Given the description of an element on the screen output the (x, y) to click on. 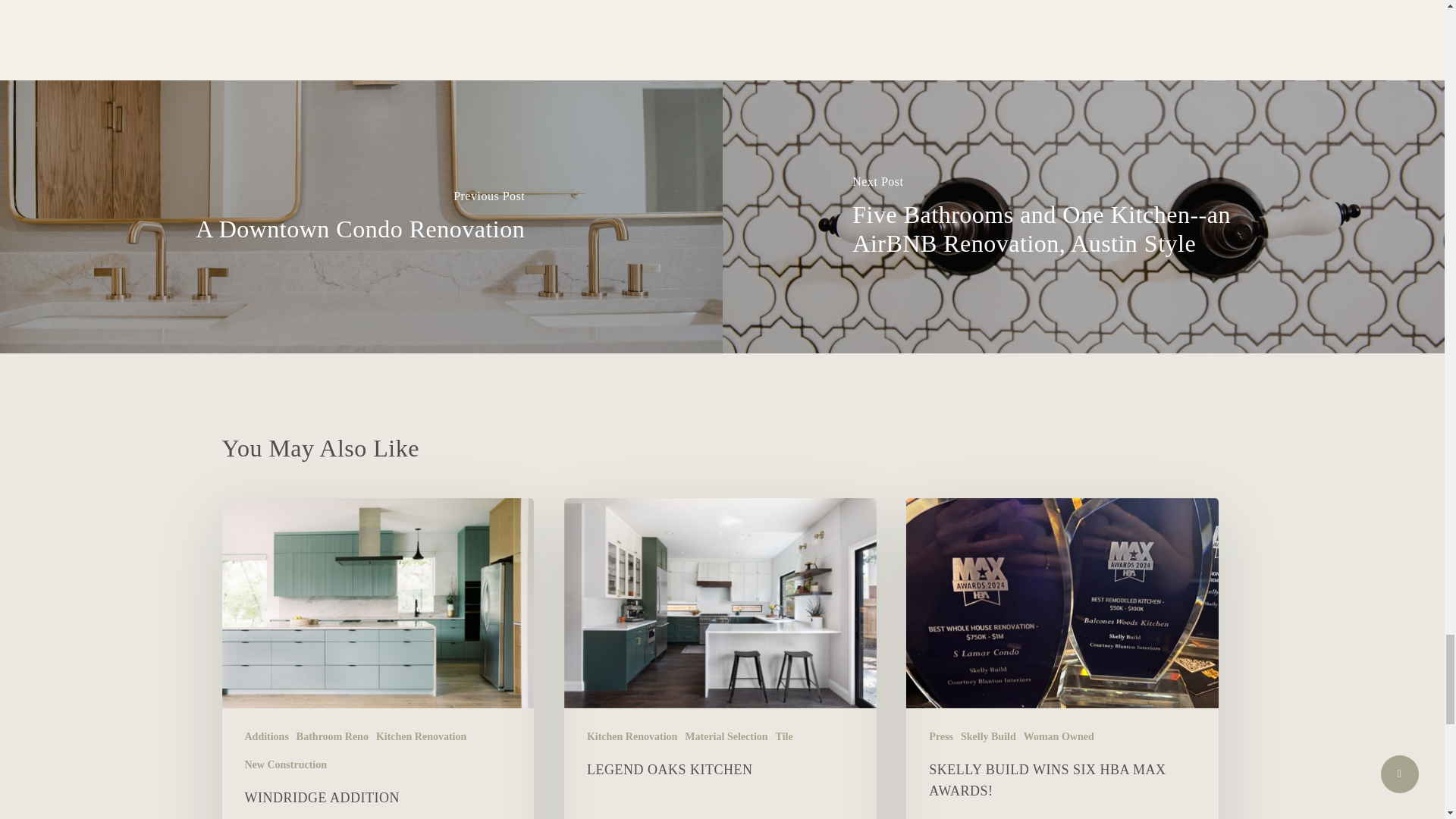
Bathroom Reno (332, 736)
Additions (266, 736)
Kitchen Renovation (420, 736)
New Construction (285, 764)
